Given the description of an element on the screen output the (x, y) to click on. 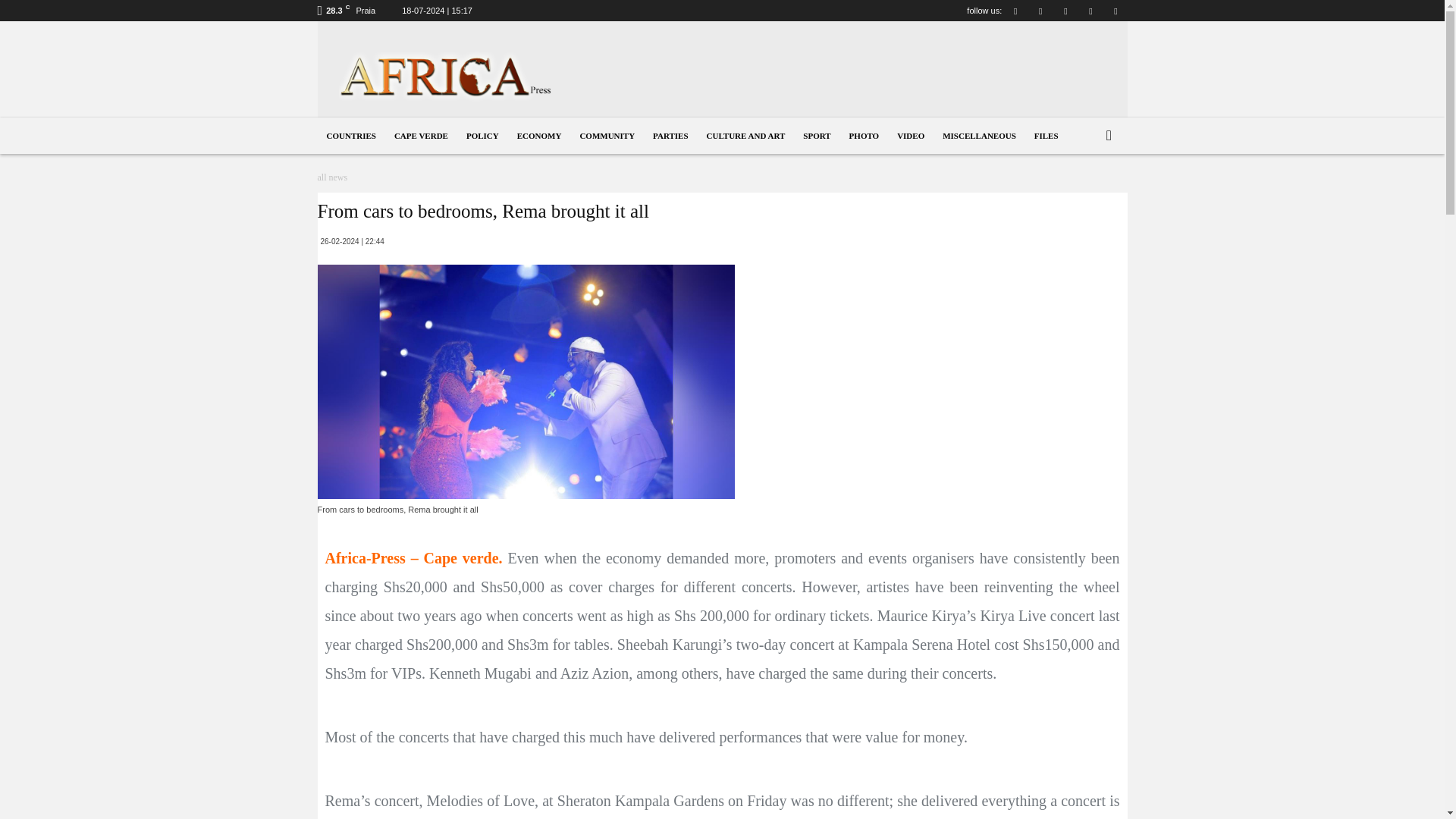
Twitter (1090, 10)
From cars to bedrooms, Rema brought it all (525, 381)
POLICY (482, 135)
PARTIES (670, 135)
COMMUNITY (606, 135)
ECONOMY (539, 135)
VIDEO (910, 135)
MISCELLANEOUS (979, 135)
SPORT (816, 135)
CAPE VERDE (421, 135)
Facebook (1015, 10)
Youtube (1114, 10)
PHOTO (864, 135)
FILES (1046, 135)
COUNTRIES (350, 135)
